Given the description of an element on the screen output the (x, y) to click on. 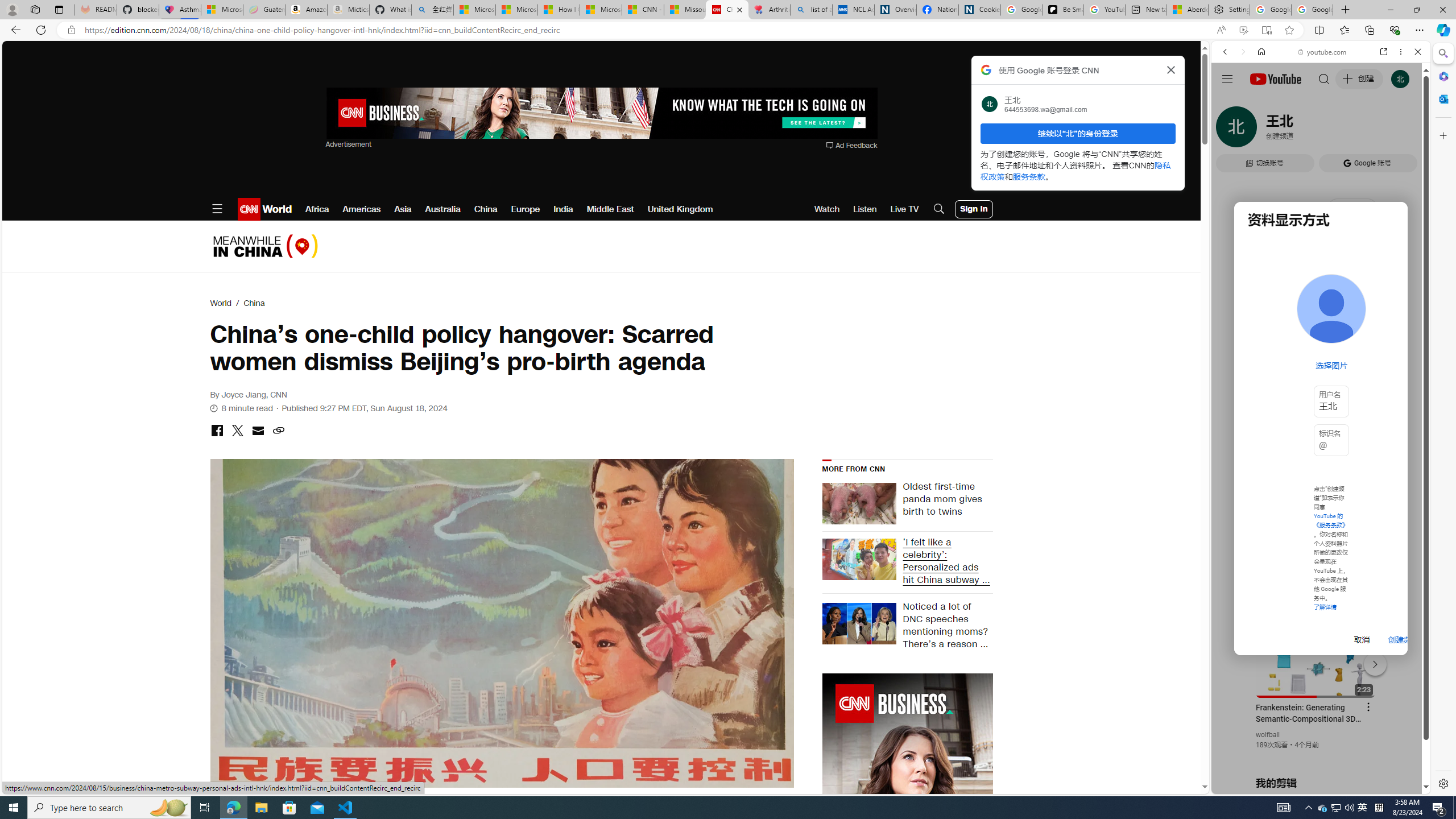
#you (1320, 253)
India (563, 209)
Live TV (903, 208)
Enhance video (1243, 29)
Web scope (1230, 102)
Search Filter, Search Tools (1350, 129)
